Given the description of an element on the screen output the (x, y) to click on. 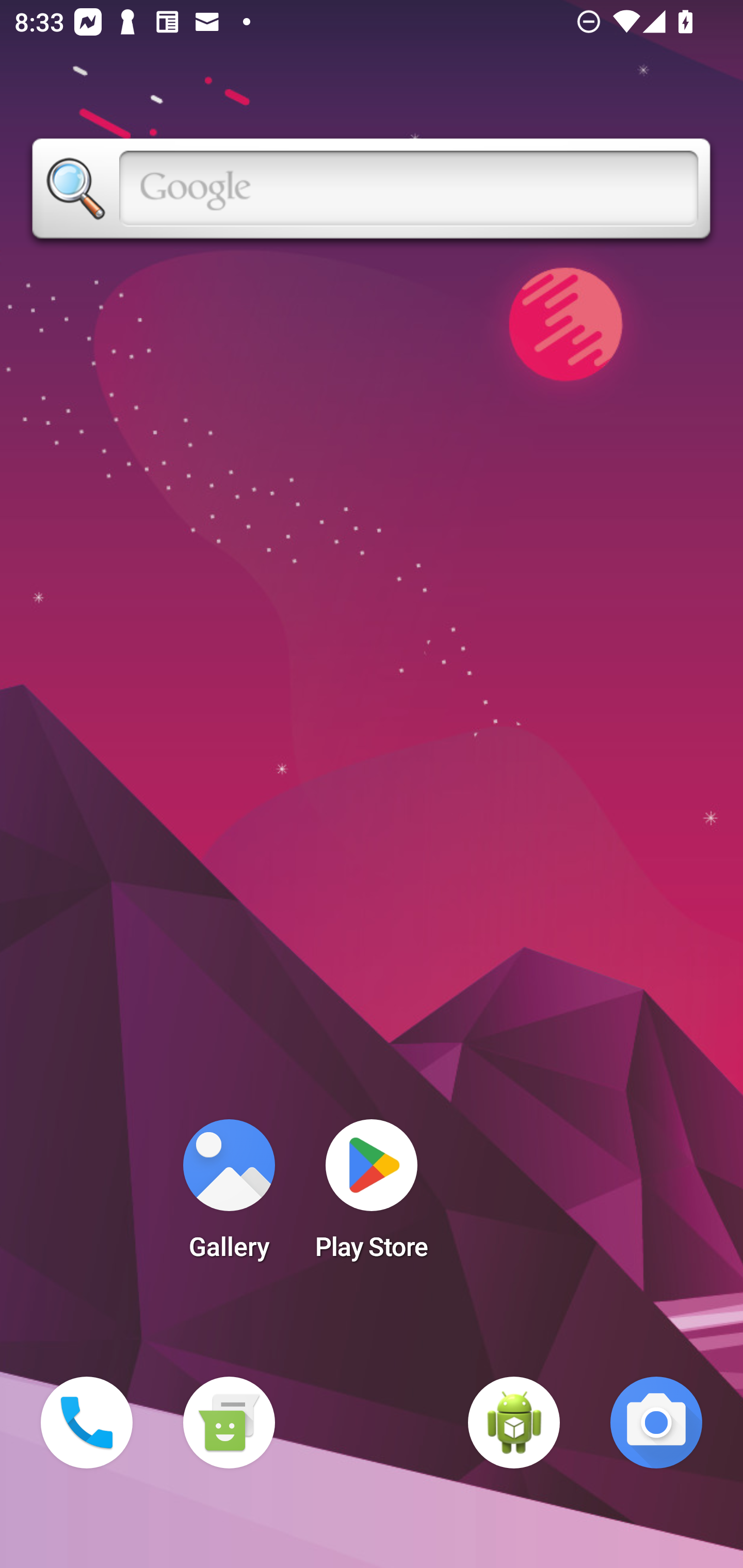
Gallery (228, 1195)
Play Store (371, 1195)
Phone (86, 1422)
Messaging (228, 1422)
WebView Browser Tester (513, 1422)
Camera (656, 1422)
